Given the description of an element on the screen output the (x, y) to click on. 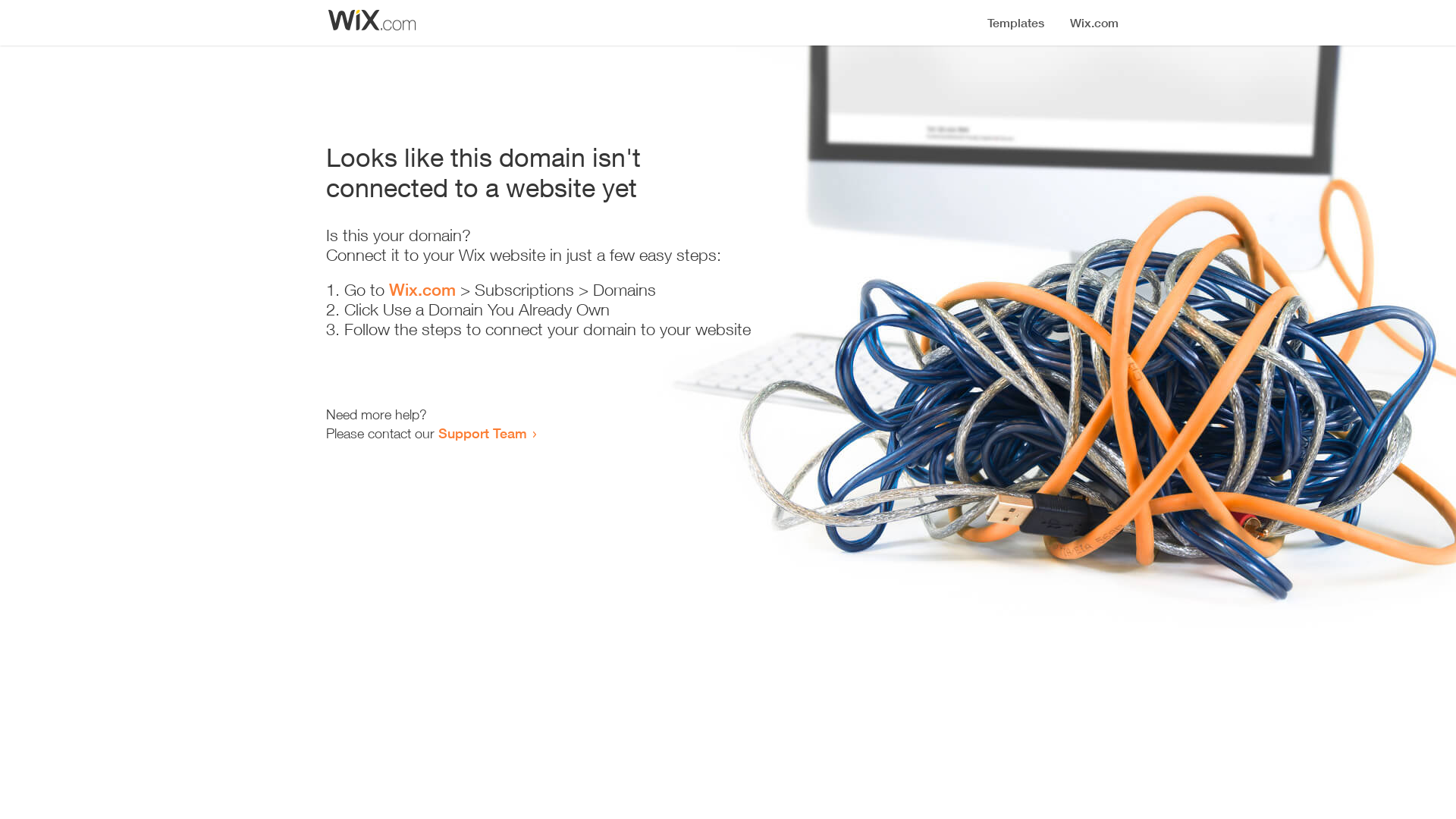
Wix.com Element type: text (422, 289)
Support Team Element type: text (482, 432)
